Given the description of an element on the screen output the (x, y) to click on. 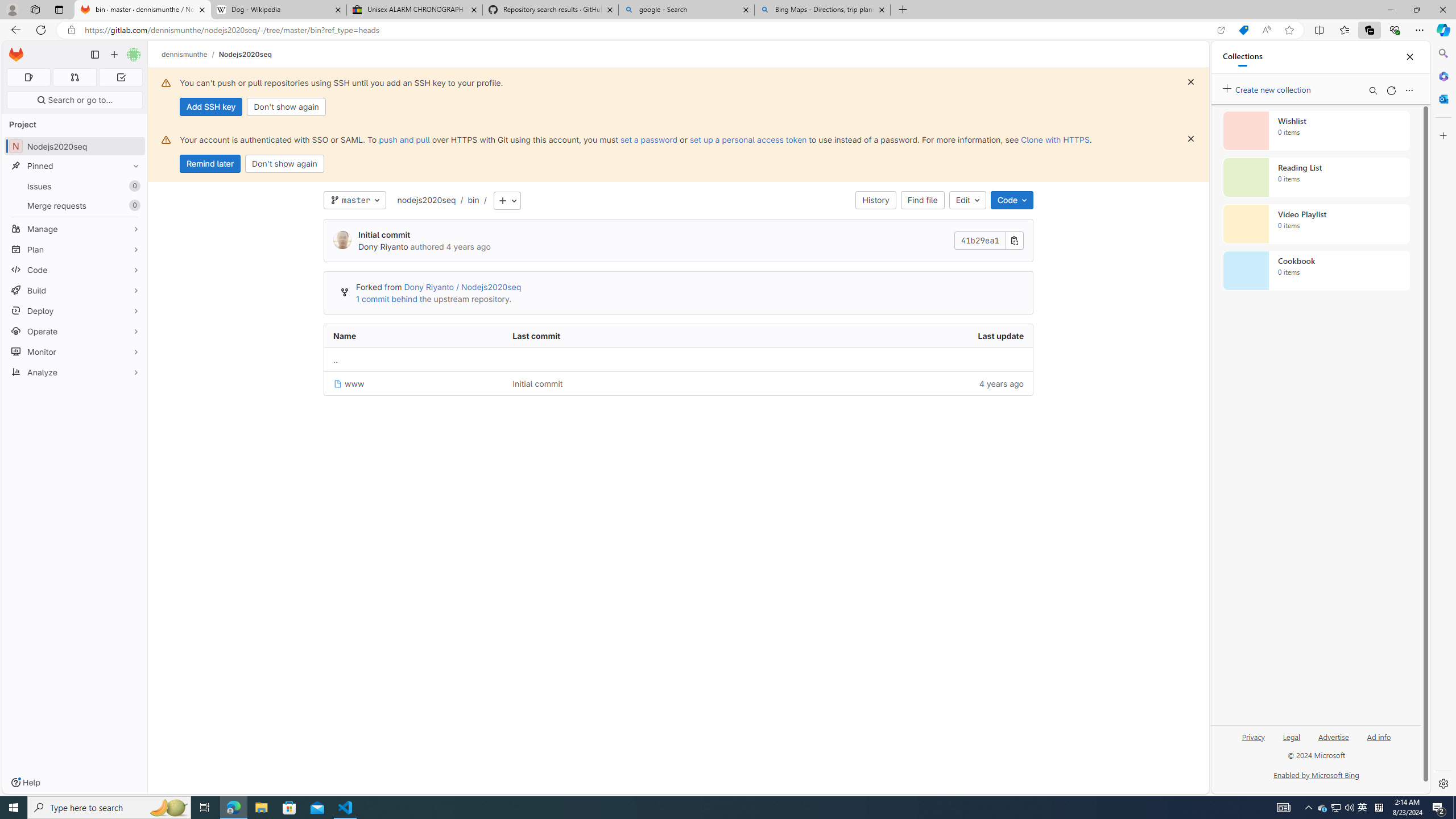
Find file (921, 199)
master (355, 199)
Plan (74, 248)
Unpin Issues (132, 186)
Add to tree (507, 200)
push and pull (403, 139)
Dony Riyanto (382, 246)
Cookbook collection, 0 items (1316, 270)
Primary navigation sidebar (94, 54)
